Given the description of an element on the screen output the (x, y) to click on. 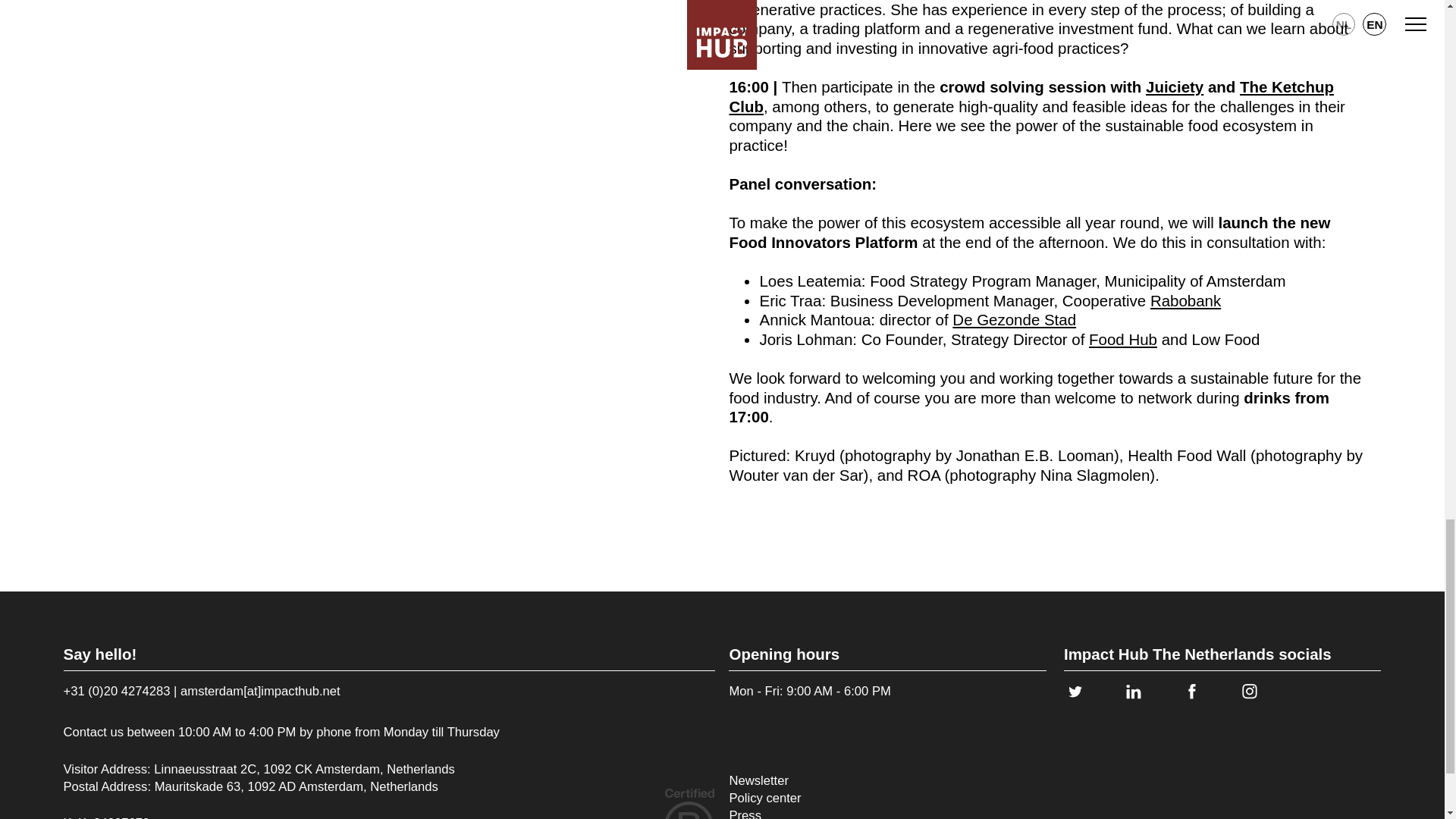
Food Hub (1123, 339)
Rabobank (1185, 300)
Linnaeusstraat 2C, 1092 CK Amsterdam, Netherlands (304, 769)
Policy center (764, 797)
Juiciety (1174, 86)
De Gezonde Stad (1013, 319)
The Ketchup Club (1031, 96)
Newsletter (764, 780)
Press (764, 812)
